Given the description of an element on the screen output the (x, y) to click on. 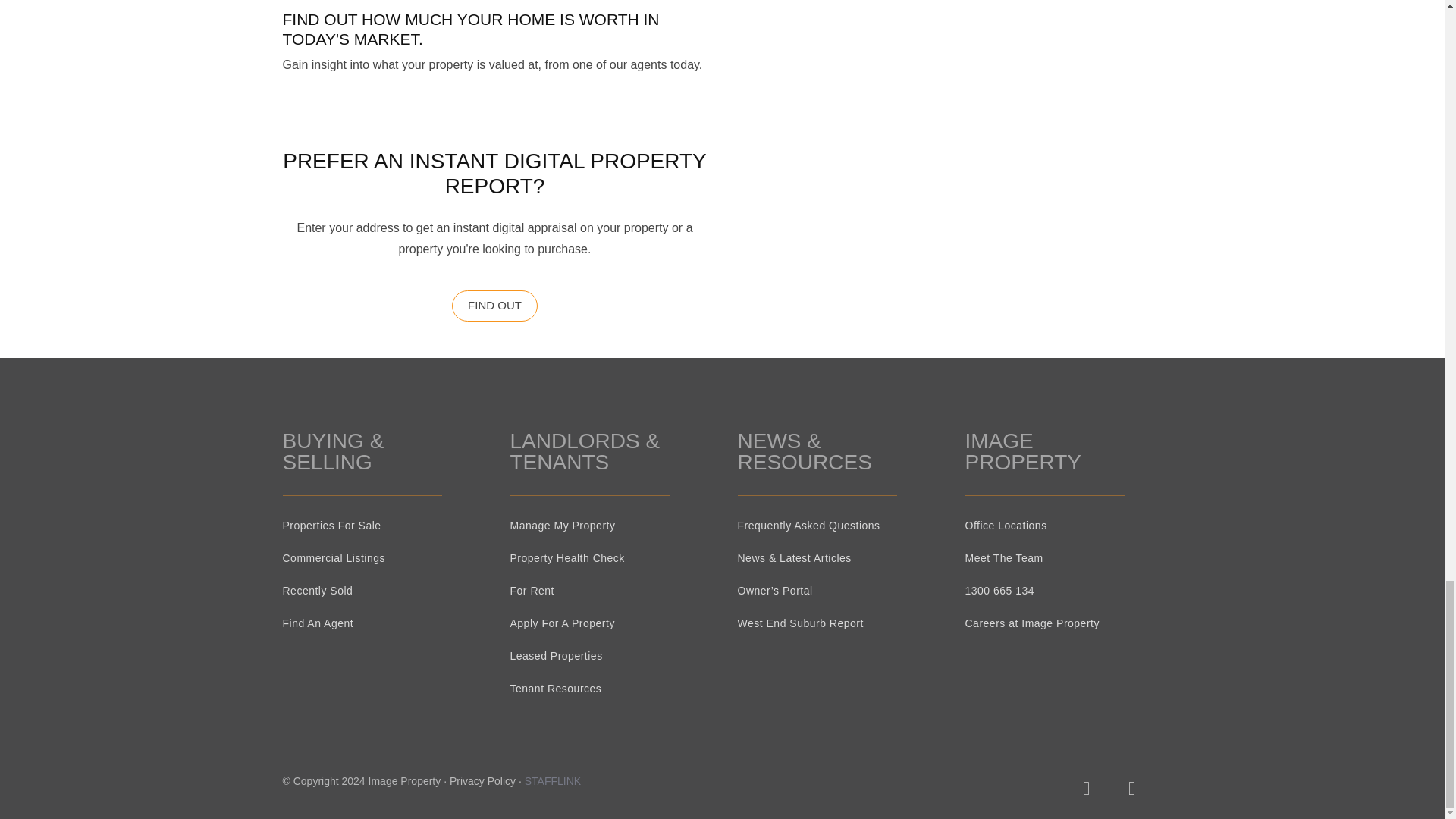
Facebook (1131, 788)
Instagram (1085, 788)
LinkedIn (1040, 788)
